Given the description of an element on the screen output the (x, y) to click on. 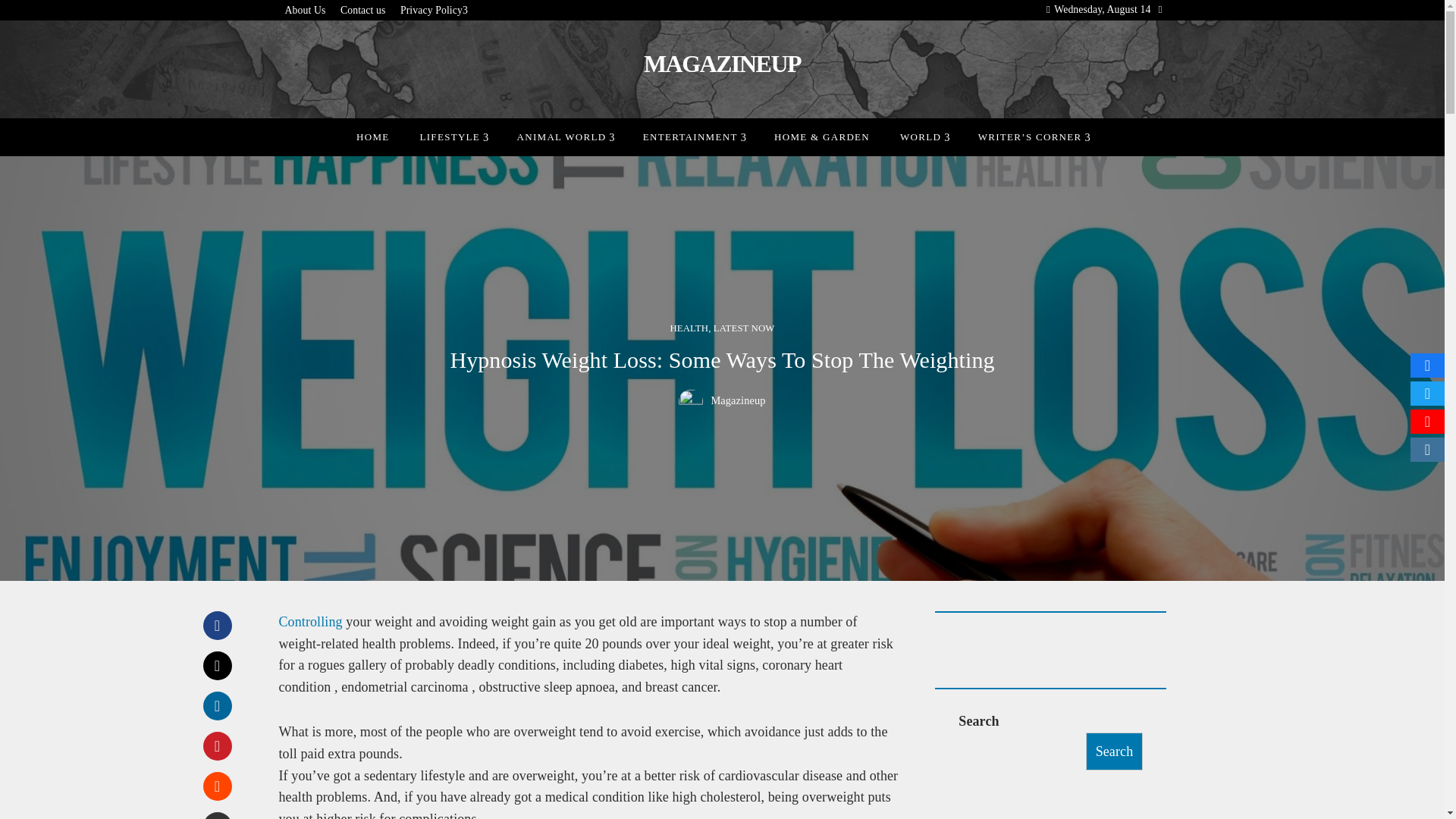
Contact us (362, 10)
LIFESTYLE (452, 136)
ENTERTAINMENT (692, 136)
WORLD (923, 136)
HOME (372, 136)
Privacy Policy (433, 10)
MAGAZINEUP (721, 62)
About Us (305, 10)
ANIMAL WORLD (564, 136)
